Given the description of an element on the screen output the (x, y) to click on. 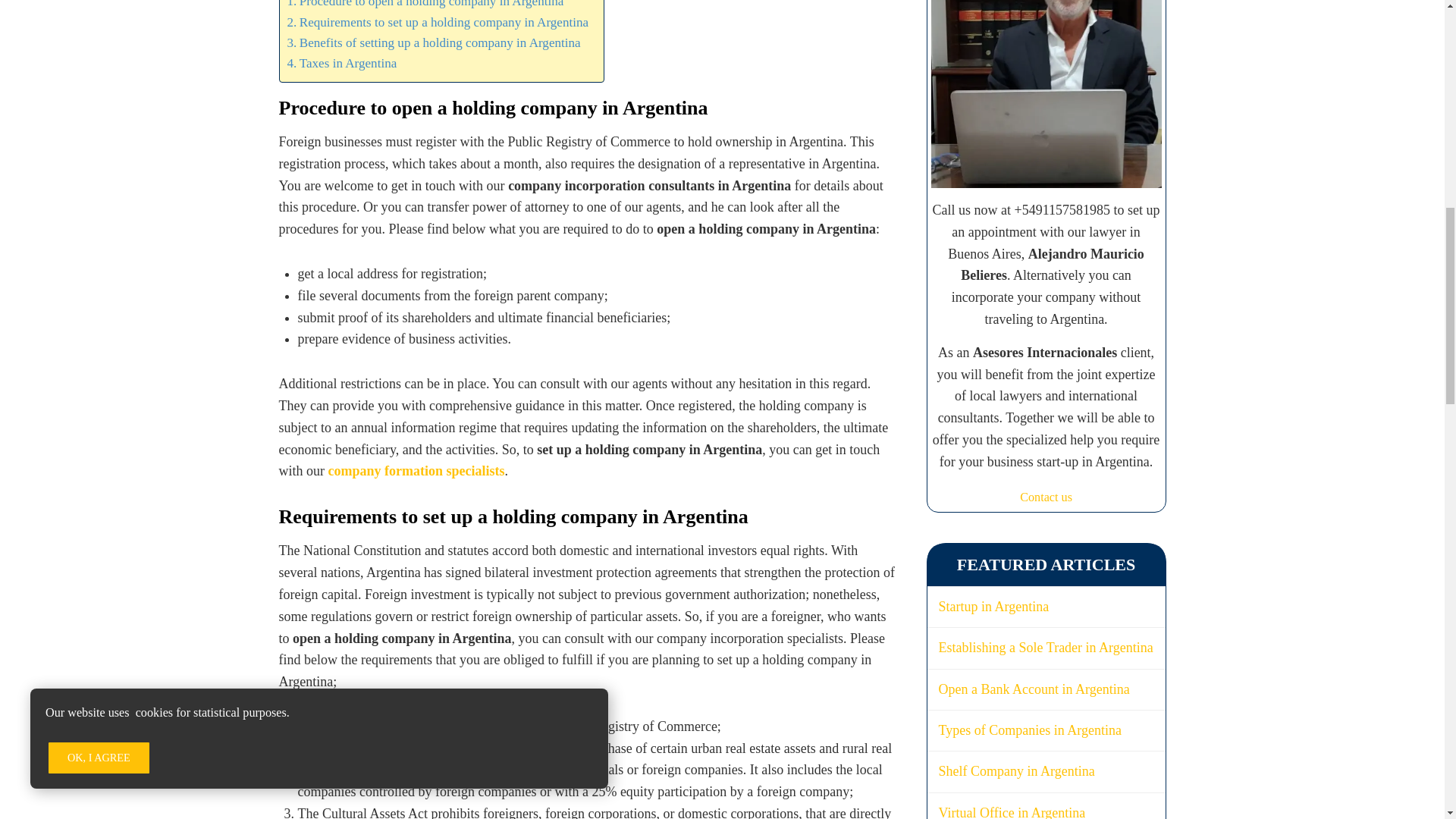
Taxes in Argentina (341, 63)
company formation specialists (415, 470)
Benefits of setting up a holding company in Argentina (432, 42)
Taxes in Argentina (341, 63)
Procedure to open a holding company in Argentina (424, 5)
Requirements to set up a holding company in Argentina (437, 22)
Benefits of setting up a holding company in Argentina (432, 42)
Requirements to set up a holding company in Argentina (437, 22)
Procedure to open a holding company in Argentina (424, 5)
